Given the description of an element on the screen output the (x, y) to click on. 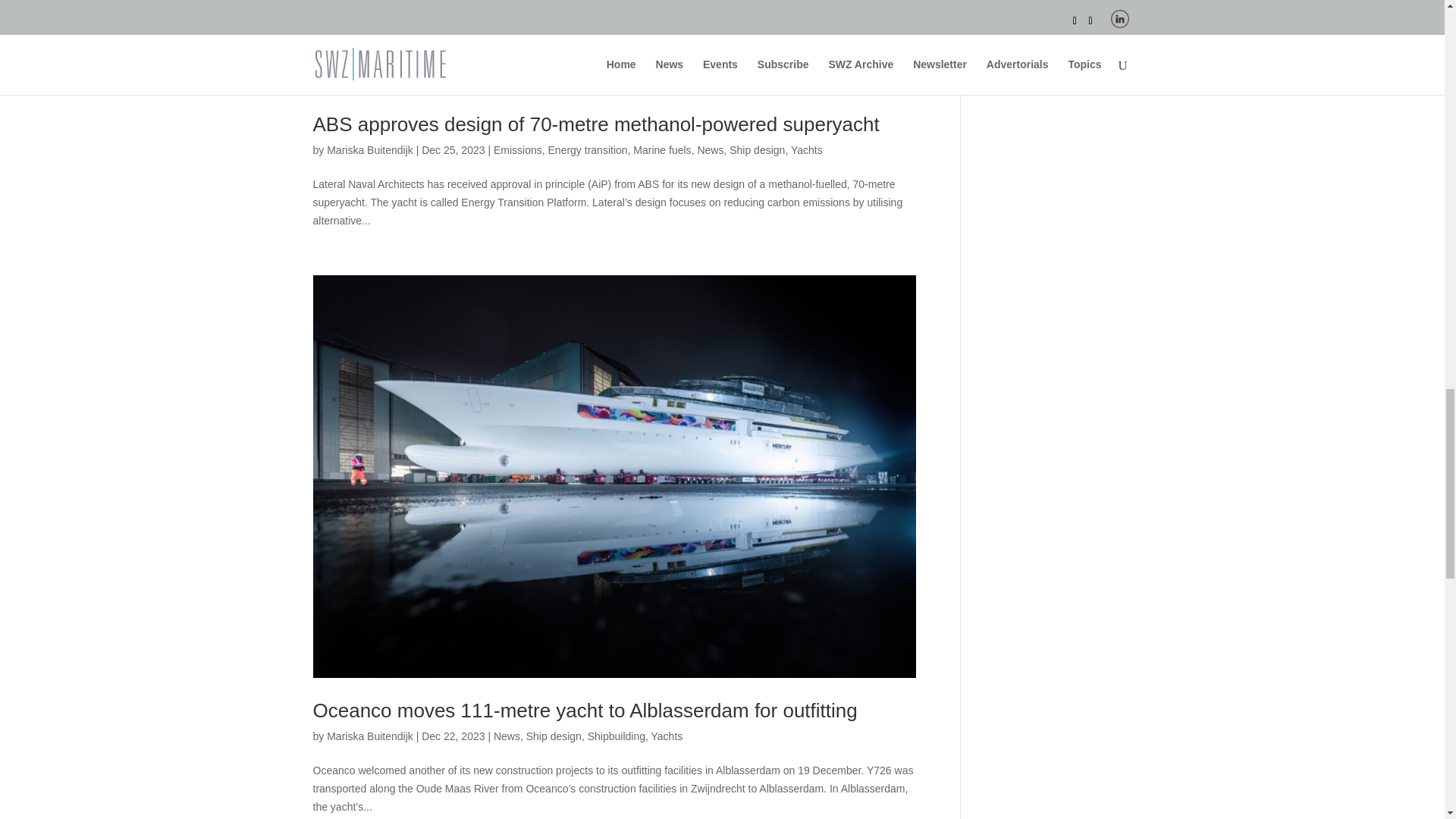
Posts by Mariska Buitendijk (369, 736)
Mariska Buitendijk (369, 150)
Posts by Mariska Buitendijk (369, 150)
ABS approves design of 70-metre methanol-powered superyacht (596, 124)
